Given the description of an element on the screen output the (x, y) to click on. 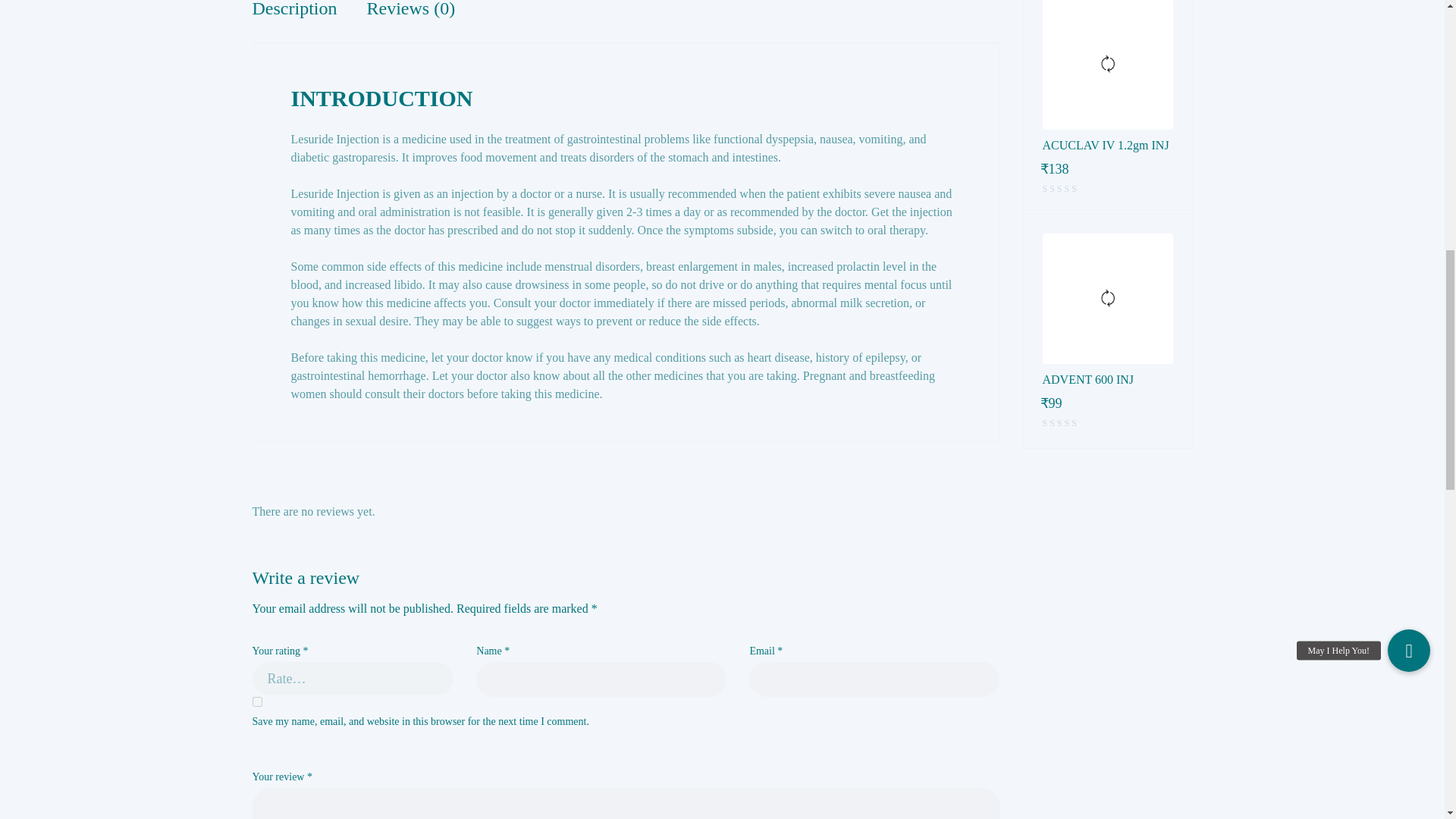
ADVENT 600 INJ (1107, 298)
ADVENT 600 INJ (1107, 379)
yes (256, 701)
ACUCLAV IV 1.2gm INJ (1107, 64)
ACUCLAV IV 1.2gm INJ (1107, 145)
